Given the description of an element on the screen output the (x, y) to click on. 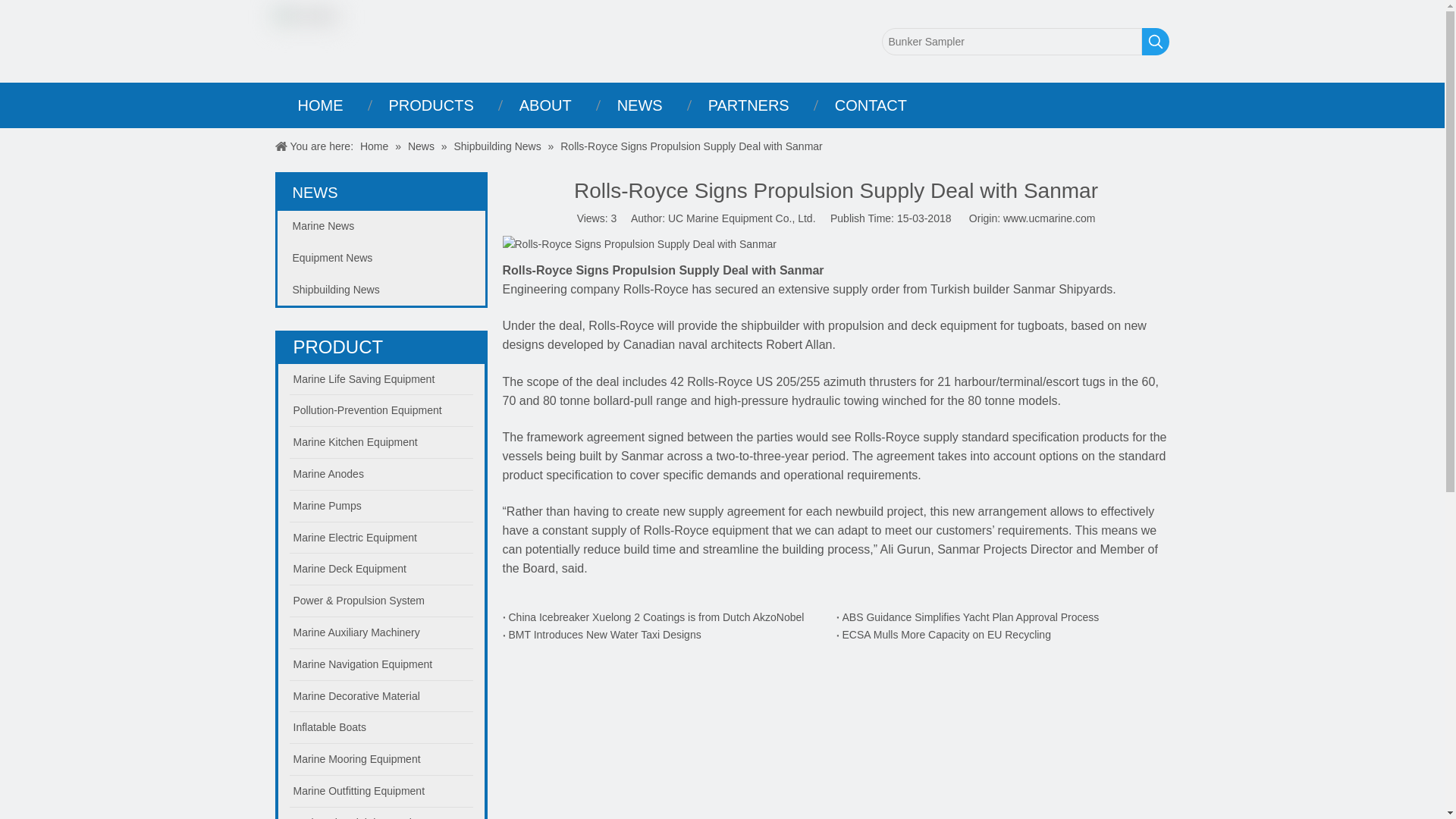
Shipbuilding News (381, 290)
Marine News (381, 226)
Marine Life Saving Equipment (380, 379)
UC Marine (306, 16)
HOME (320, 104)
NEWS (639, 104)
Pollution-Prevention Equipment (380, 410)
Pollution-Prevention Equipment (380, 410)
Home (375, 146)
Marine Life Saving Equipment (380, 379)
ABOUT (545, 104)
Equipment News (381, 258)
Shipbuilding News (497, 146)
PRODUCTS (430, 104)
Marine News (381, 226)
